Given the description of an element on the screen output the (x, y) to click on. 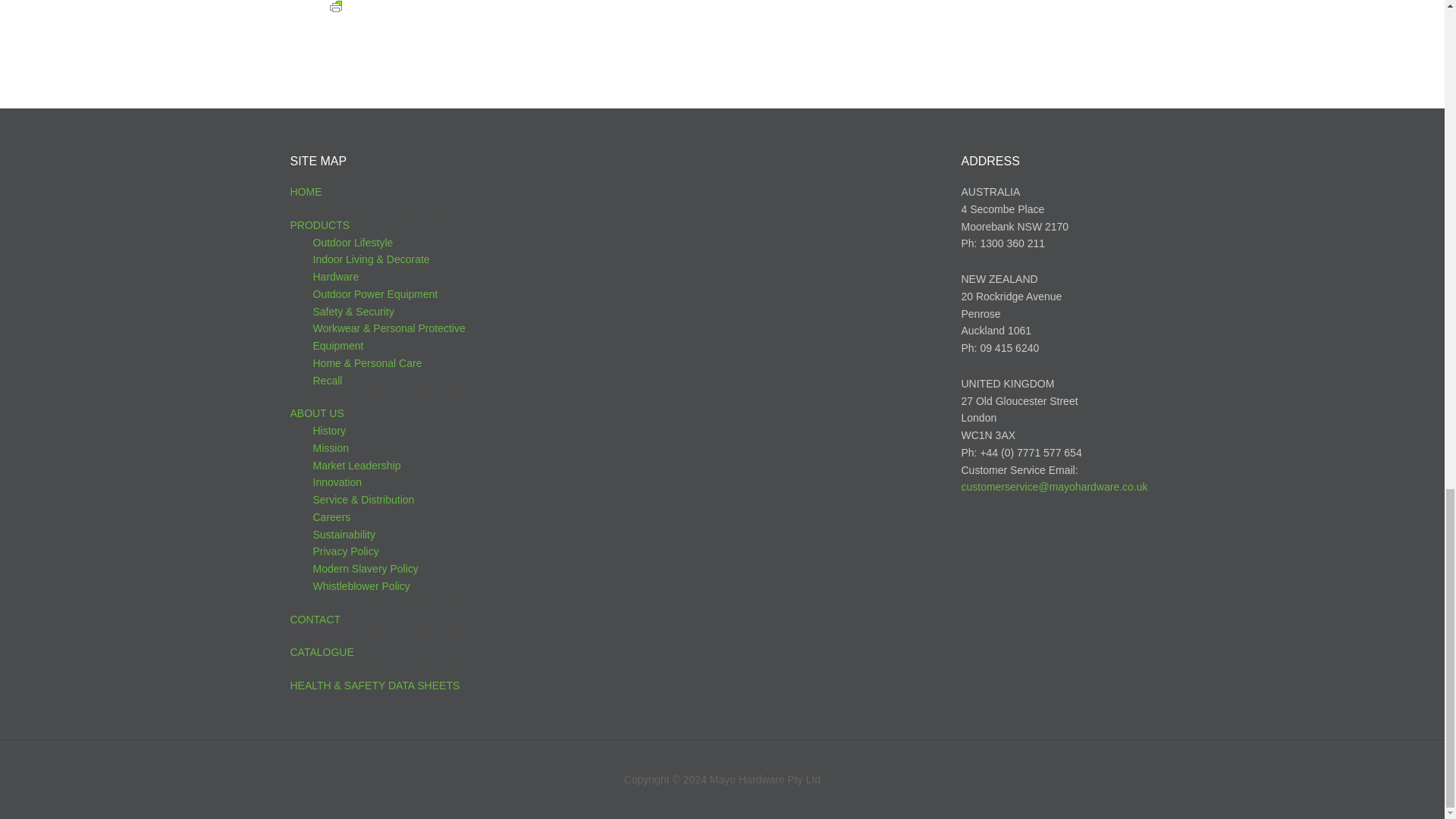
HOME (305, 191)
History (329, 430)
Recall (327, 380)
Outdoor Lifestyle (353, 242)
Outdoor Power Equipment (375, 294)
Hardware (335, 276)
PRODUCTS (319, 224)
Mission (330, 448)
ABOUT US (316, 413)
